Given the description of an element on the screen output the (x, y) to click on. 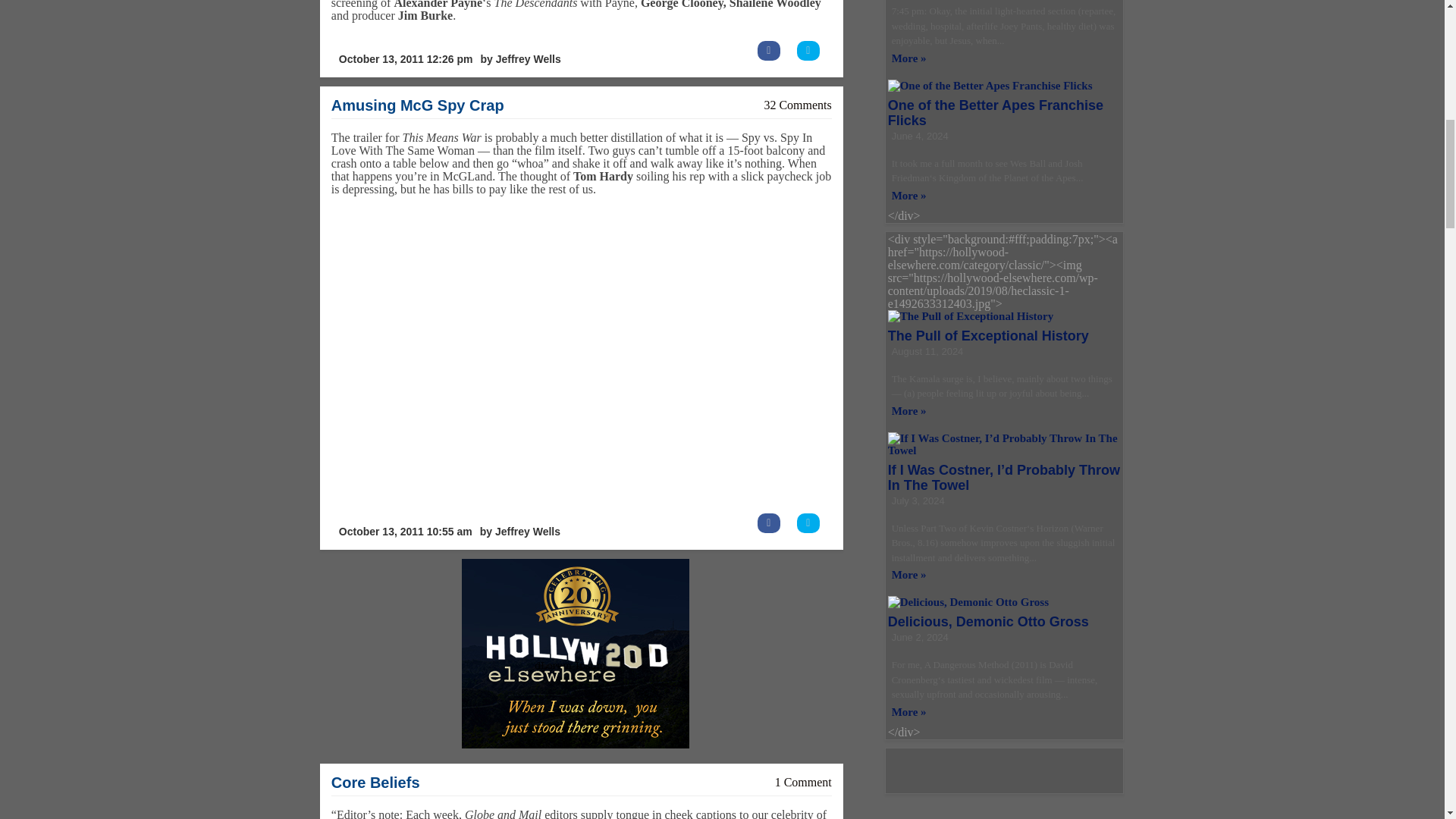
Amusing McG Spy Crap (417, 105)
by Jeffrey Wells (520, 531)
October 13, 2011 10:55 am (405, 531)
32 Comments (796, 104)
Permanent Link to Amusing McG Spy Crap (417, 105)
Permanent Link to Core Beliefs (375, 782)
by Jeffrey Wells (520, 59)
October 13, 2011 12:26 pm (405, 59)
